Given the description of an element on the screen output the (x, y) to click on. 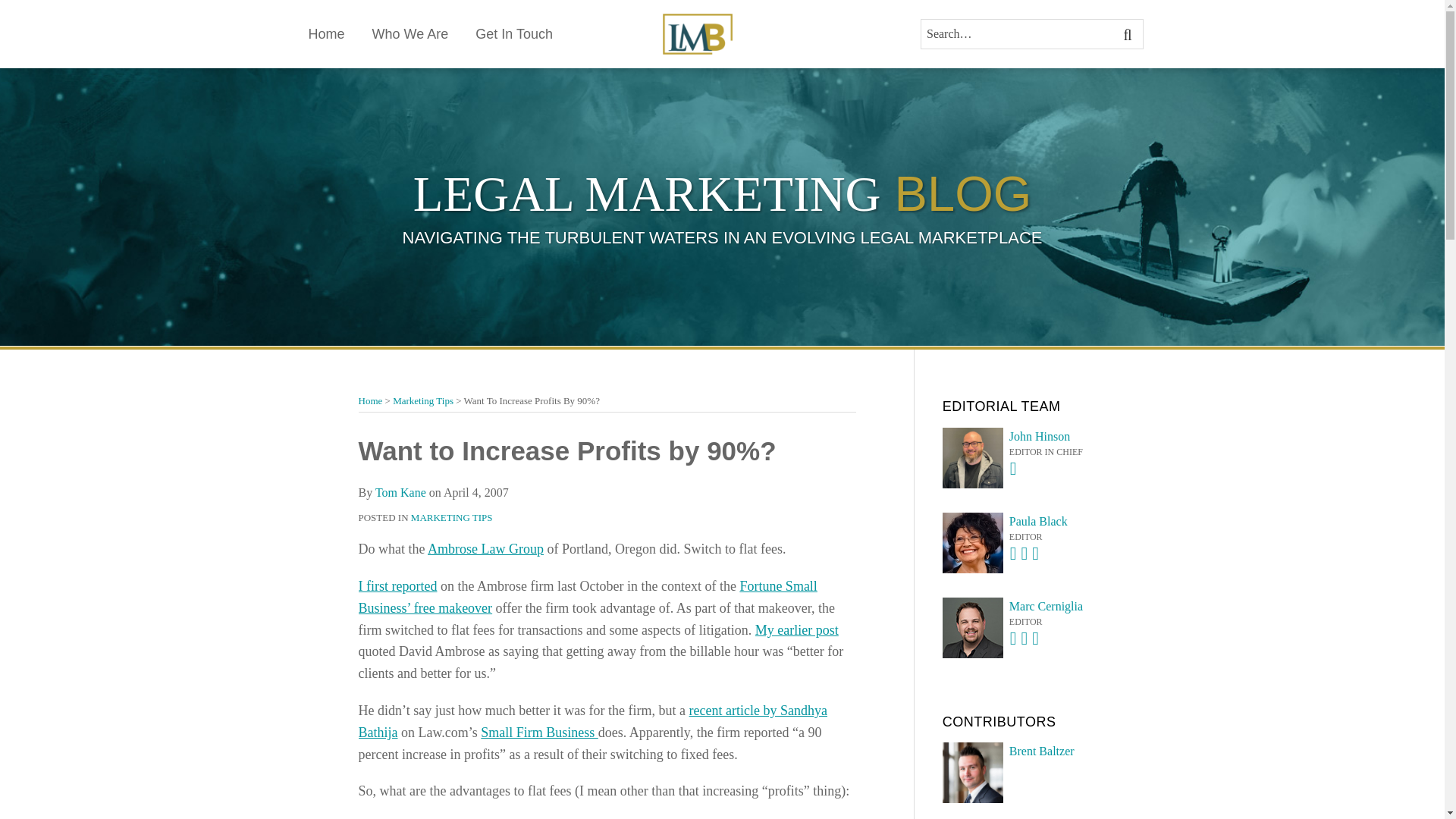
Home (369, 400)
Marketing Tips (422, 400)
Small Firm Business (539, 732)
My earlier post (796, 630)
I first reported (397, 585)
MARKETING TIPS (451, 517)
Home (325, 34)
John Hinson (1028, 436)
LEGAL MARKETING BLOG (722, 193)
SEARCH (1128, 33)
